Given the description of an element on the screen output the (x, y) to click on. 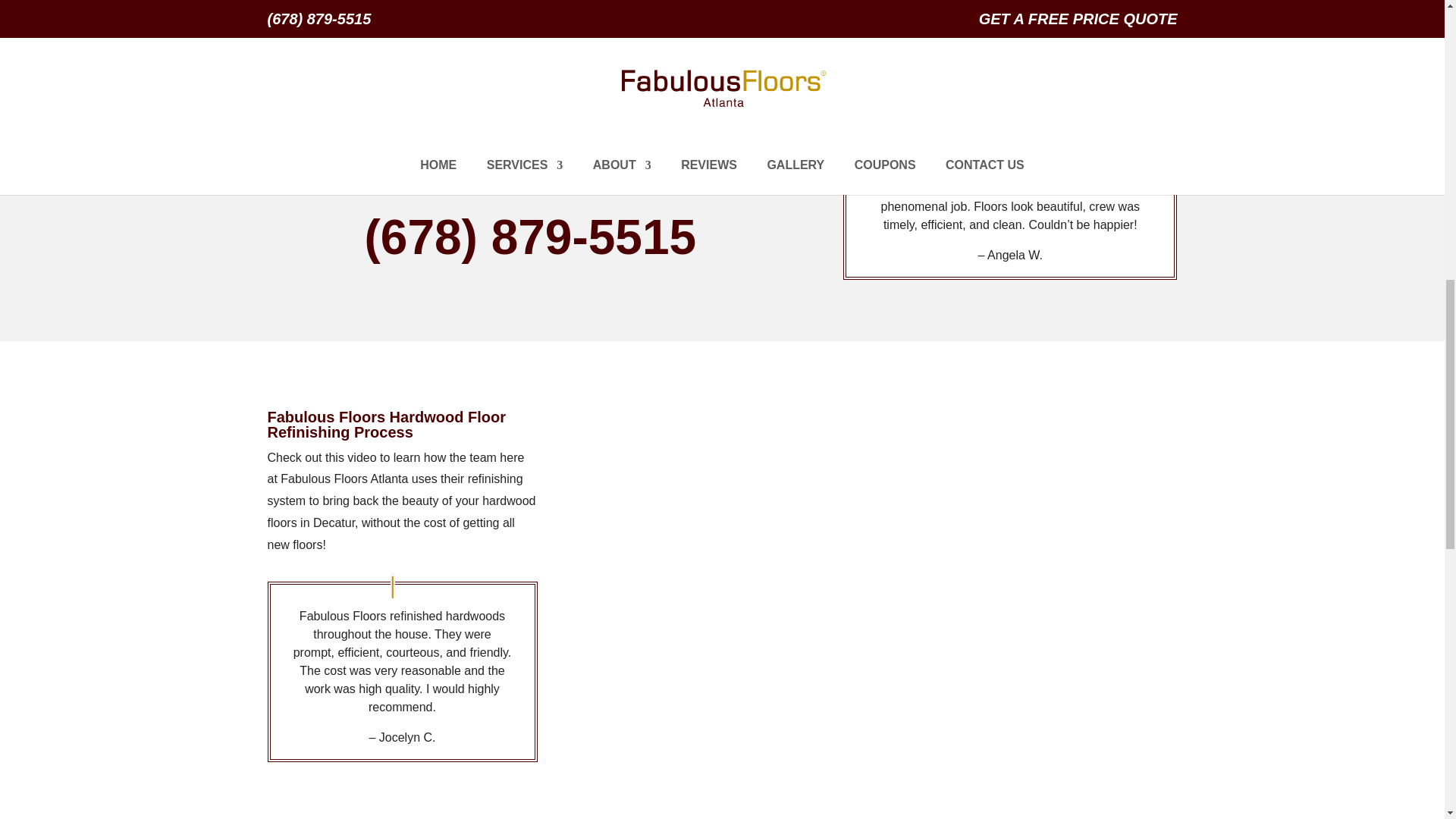
Screenshot-2023-09-18-at-1.59.10-PM (1082, 12)
Get A Free Estimate (350, 3)
